Given the description of an element on the screen output the (x, y) to click on. 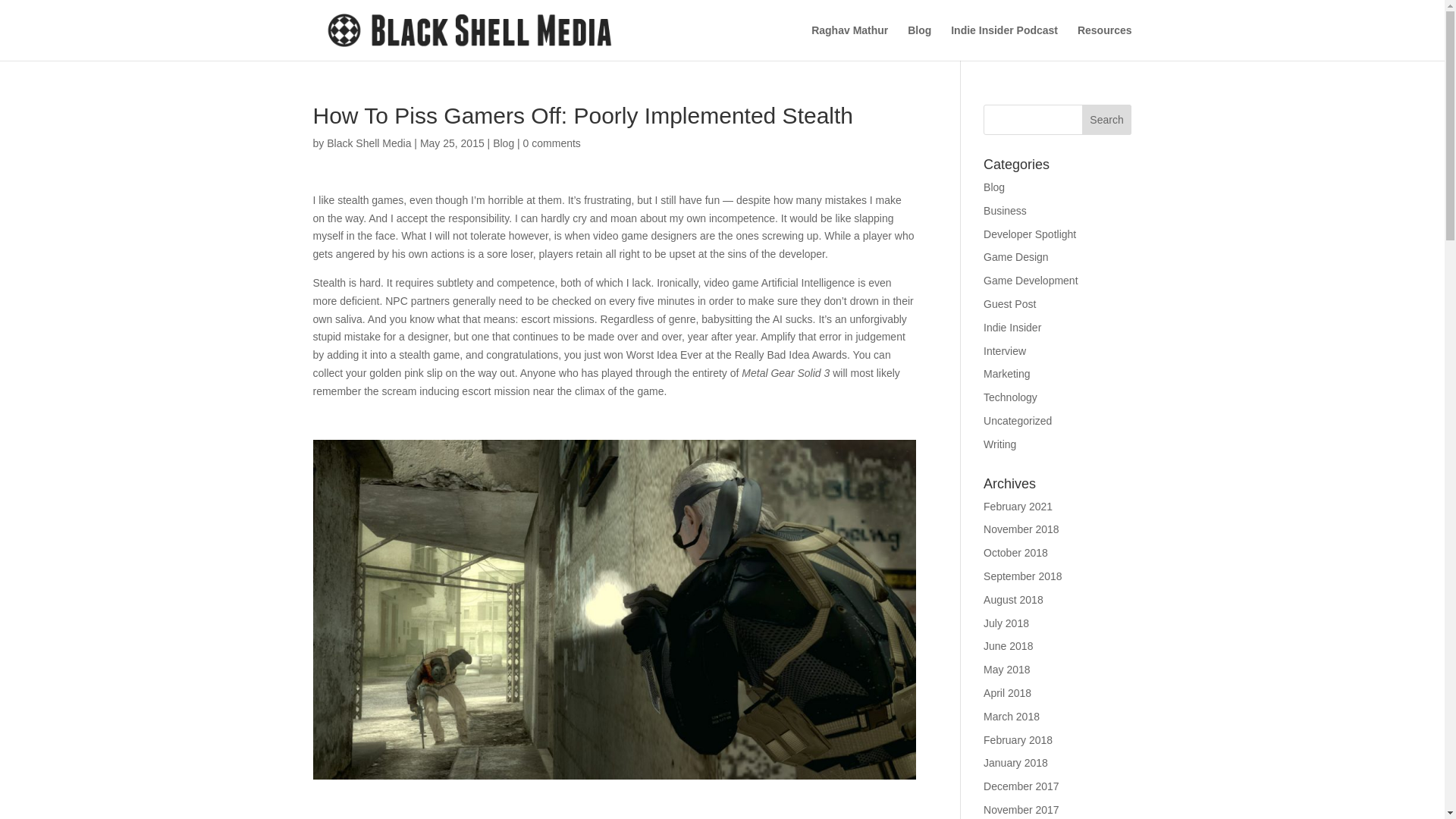
Guest Post (1009, 304)
May 2018 (1006, 669)
Blog (994, 186)
March 2018 (1011, 716)
February 2021 (1018, 506)
Search (1106, 119)
June 2018 (1008, 645)
Uncategorized (1017, 420)
Indie Insider (1012, 327)
August 2018 (1013, 599)
